Given the description of an element on the screen output the (x, y) to click on. 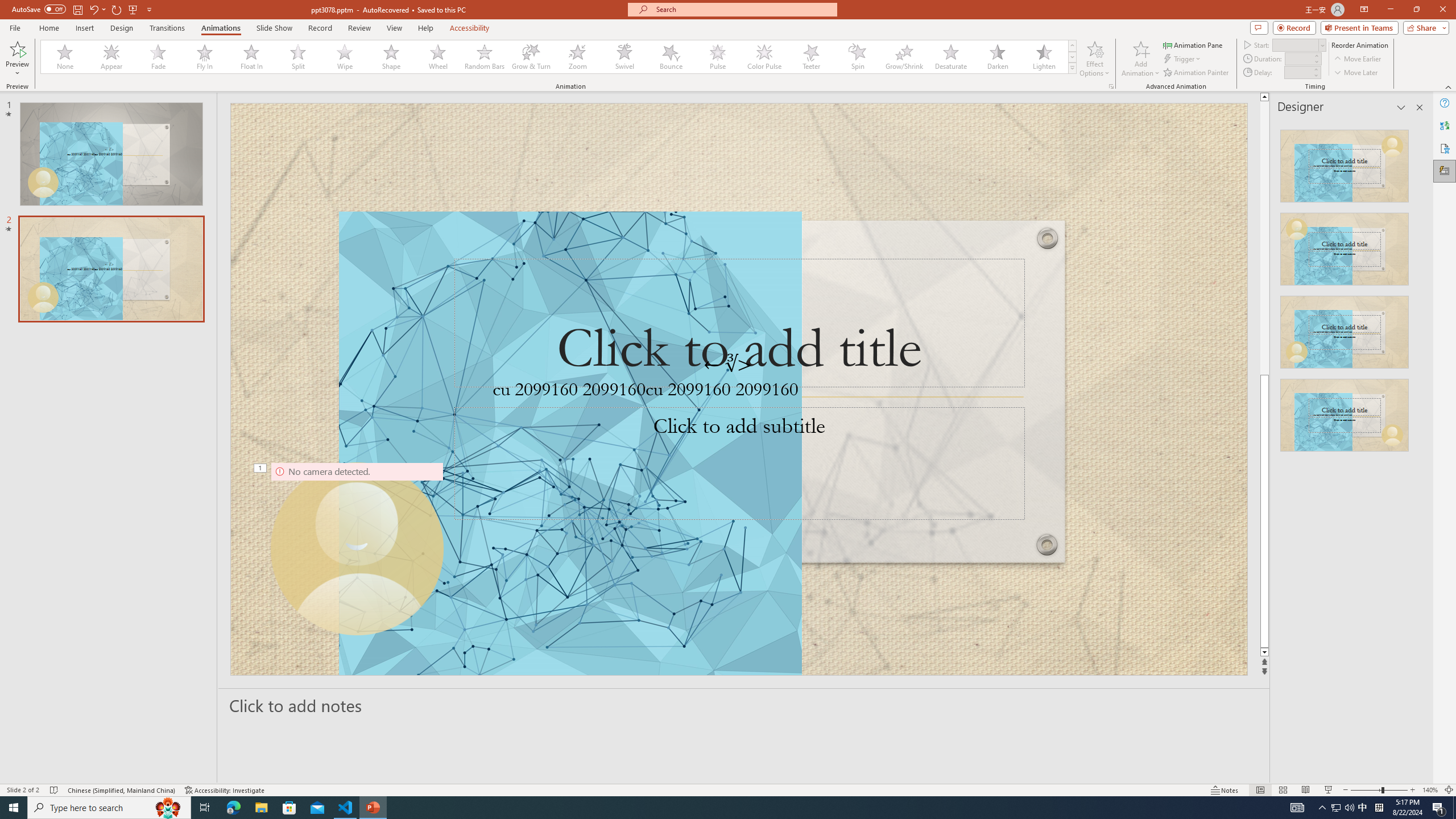
Animation, sequence 1, on Camera 9 (260, 468)
Animation Duration (1298, 58)
Lighten (1043, 56)
Animation Painter (1196, 72)
